Given the description of an element on the screen output the (x, y) to click on. 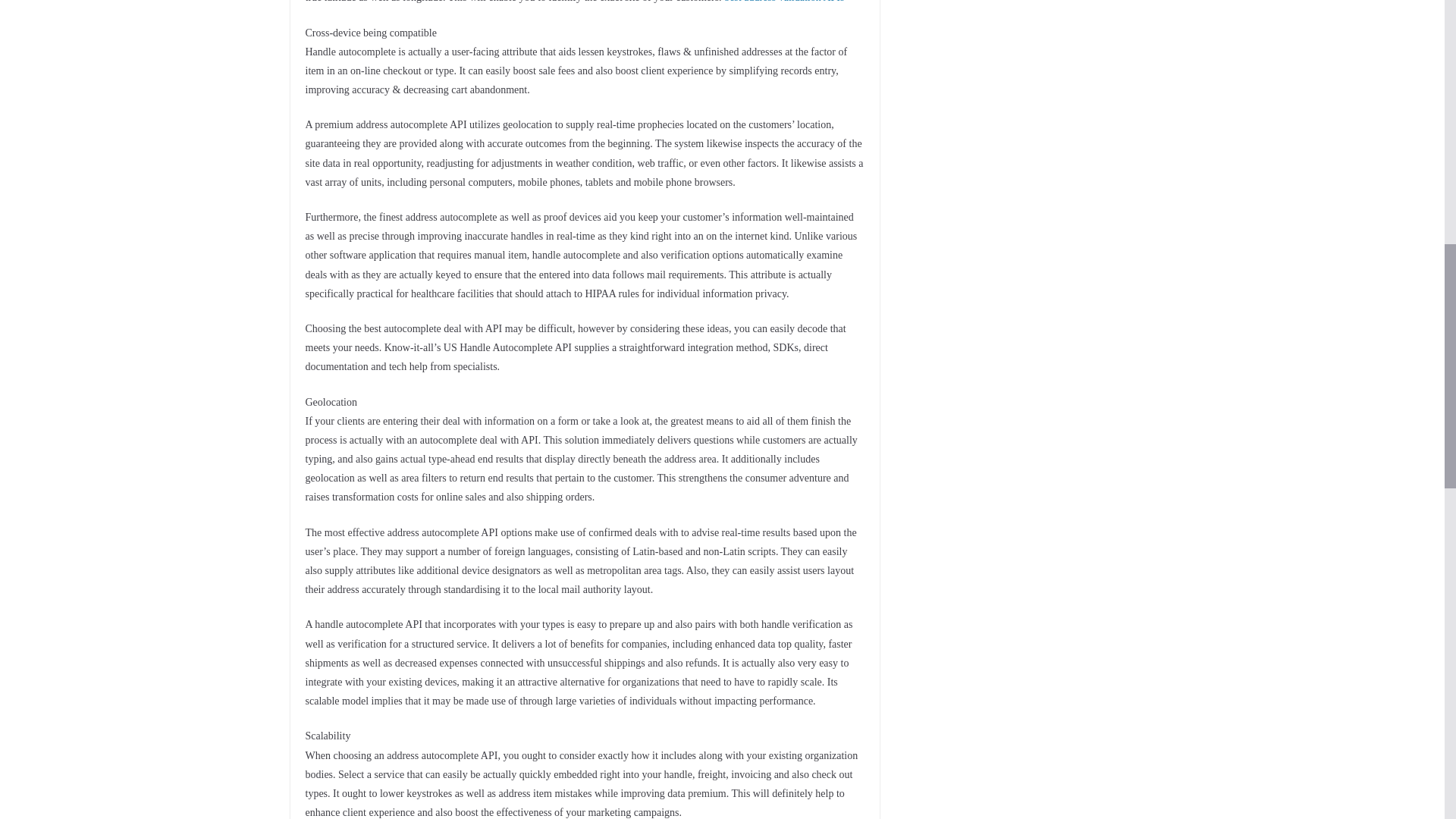
best address validation APIs (783, 1)
